Given the description of an element on the screen output the (x, y) to click on. 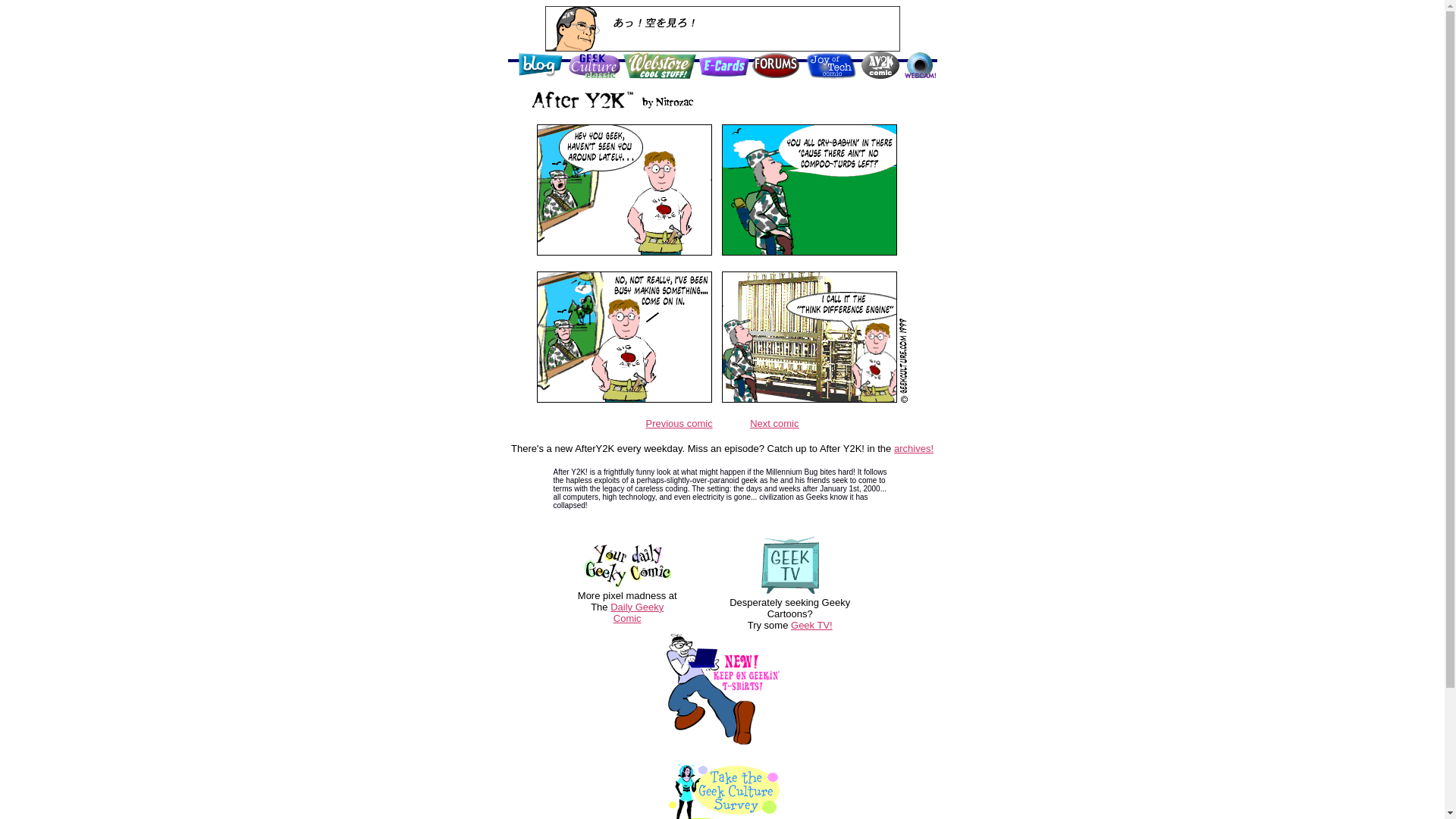
archives! (913, 448)
Geek TV! (811, 624)
Daily Geeky Comic (636, 611)
Next comic (773, 422)
Previous comic (679, 422)
